Given the description of an element on the screen output the (x, y) to click on. 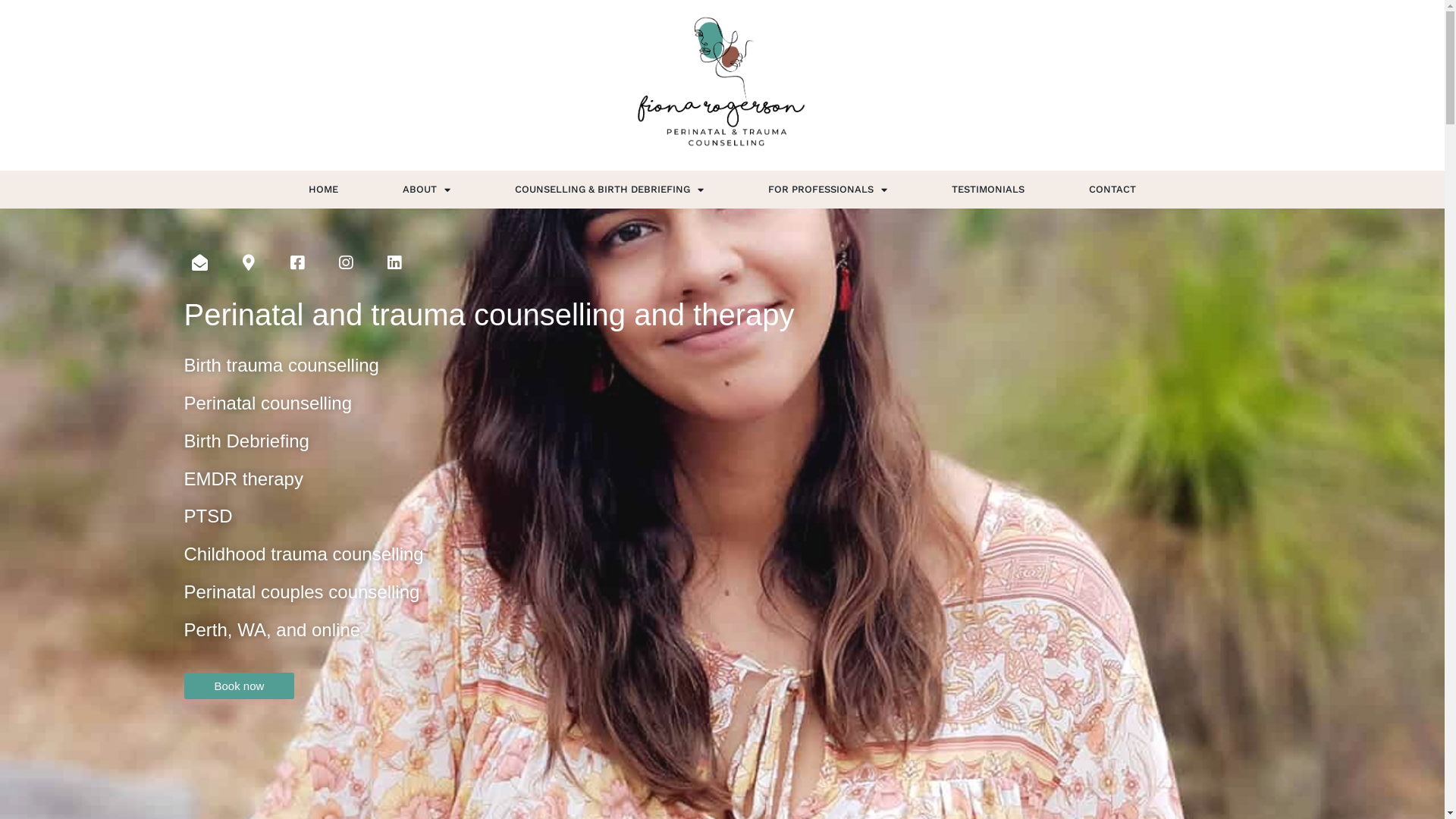
Map-marker-alt Element type: text (247, 262)
Envelope-open Element type: text (199, 262)
HOME Element type: text (322, 189)
TESTIMONIALS Element type: text (988, 189)
FOR PROFESSIONALS Element type: text (827, 189)
Instagram Element type: text (344, 262)
COUNSELLING & BIRTH DEBRIEFING Element type: text (609, 189)
Book now Element type: text (238, 685)
Linkedin Element type: text (393, 262)
ABOUT Element type: text (426, 189)
Facebook-square Element type: text (296, 262)
CONTACT Element type: text (1112, 189)
